Given the description of an element on the screen output the (x, y) to click on. 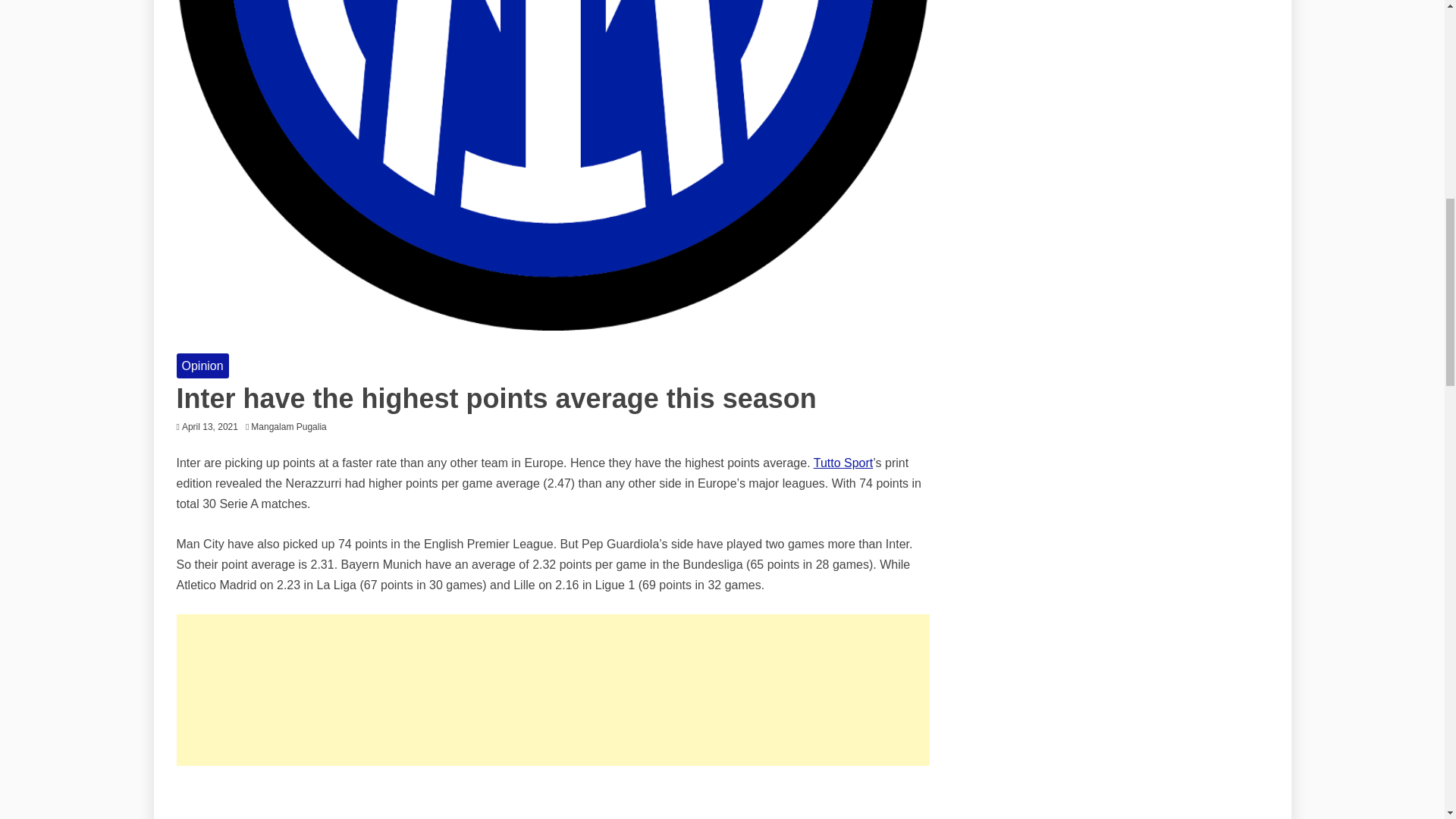
April 13, 2021 (210, 426)
Opinion (202, 365)
Tutto Sport (843, 462)
Mangalam Pugalia (291, 426)
